Given the description of an element on the screen output the (x, y) to click on. 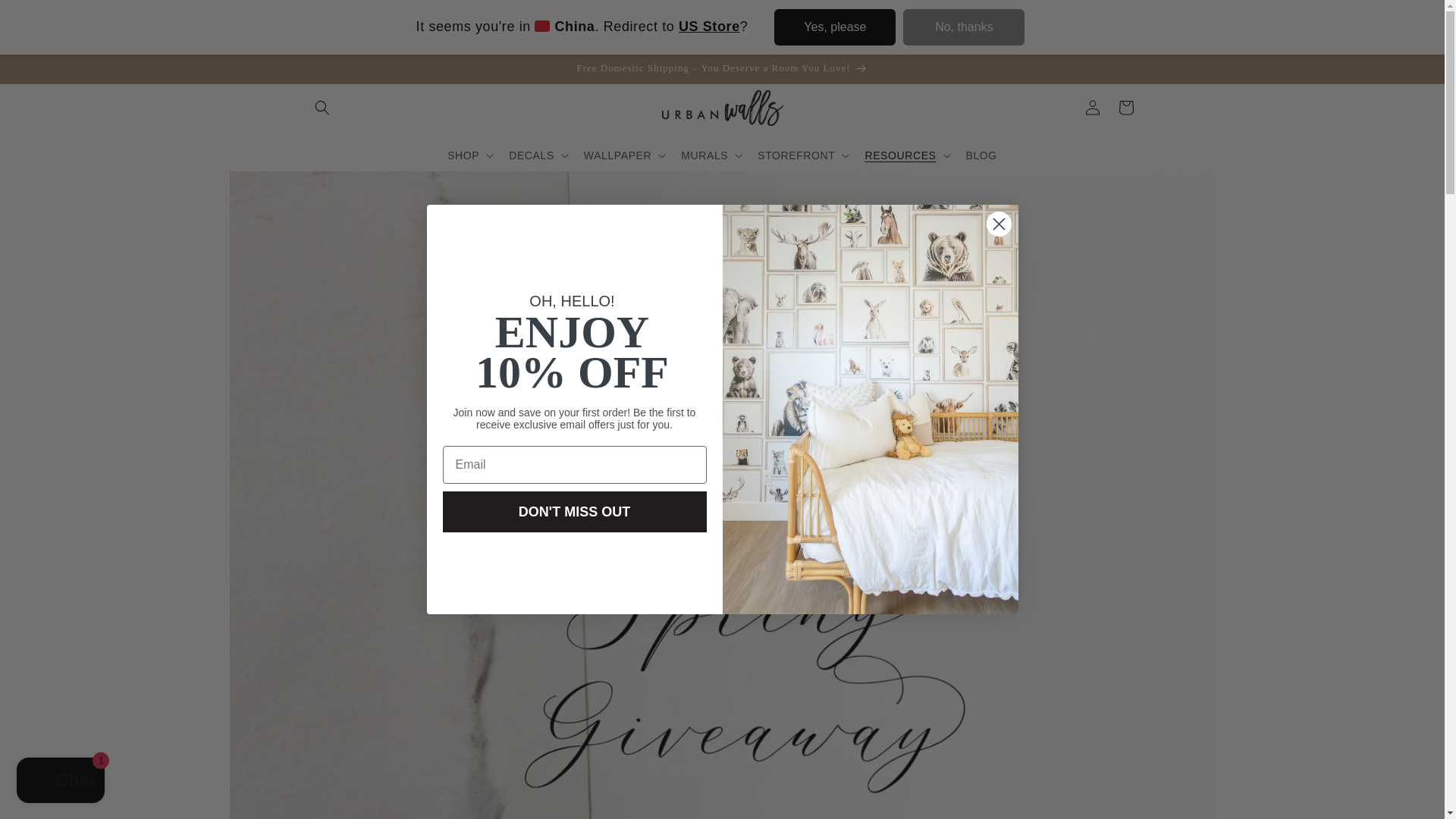
Yes, please (834, 27)
No, thanks (963, 27)
Shopify online store chat (60, 781)
Close dialog 1 (998, 223)
Skip to content (45, 17)
US Store (708, 26)
